Given the description of an element on the screen output the (x, y) to click on. 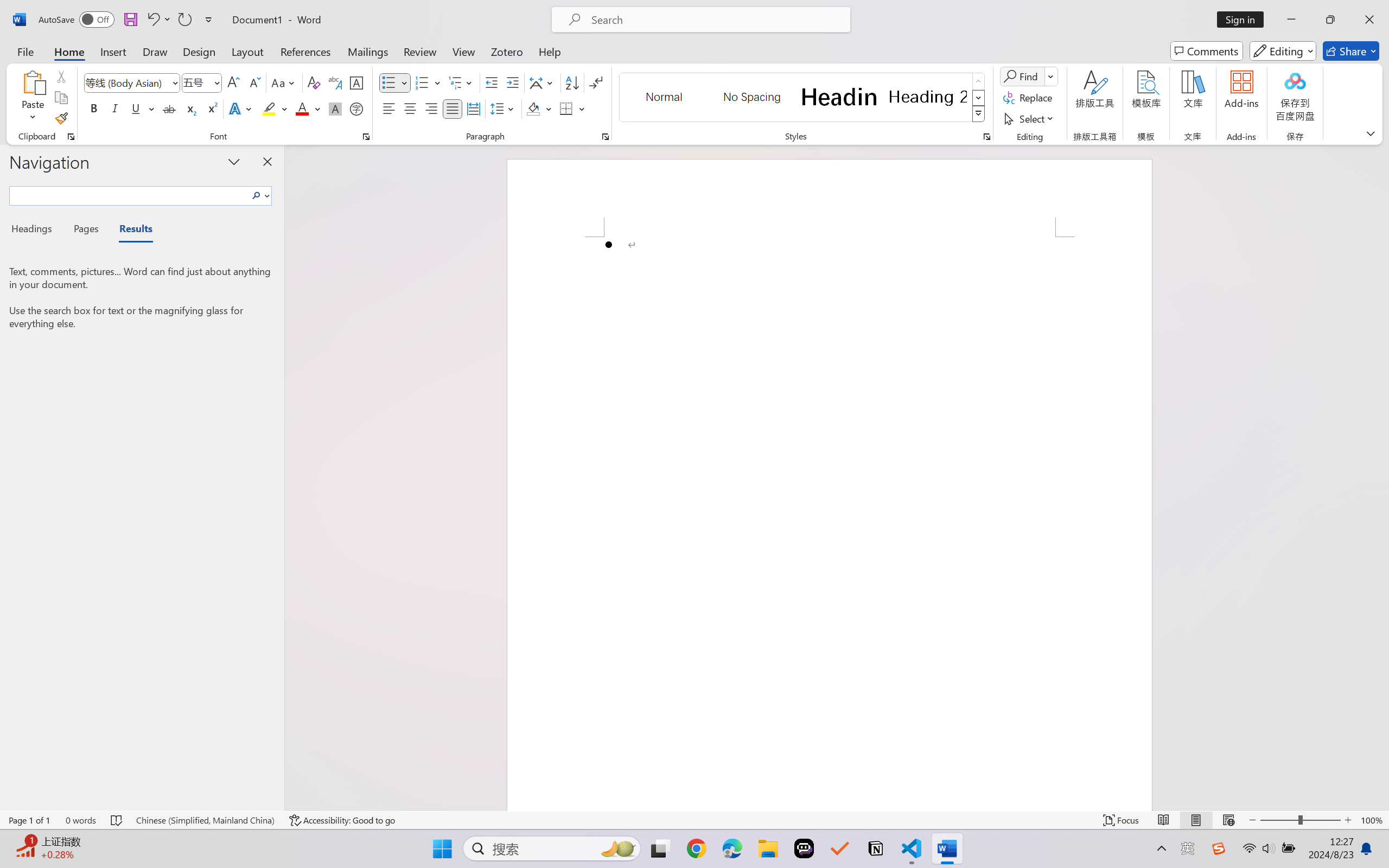
Undo Bullet Default (158, 19)
